Given the description of an element on the screen output the (x, y) to click on. 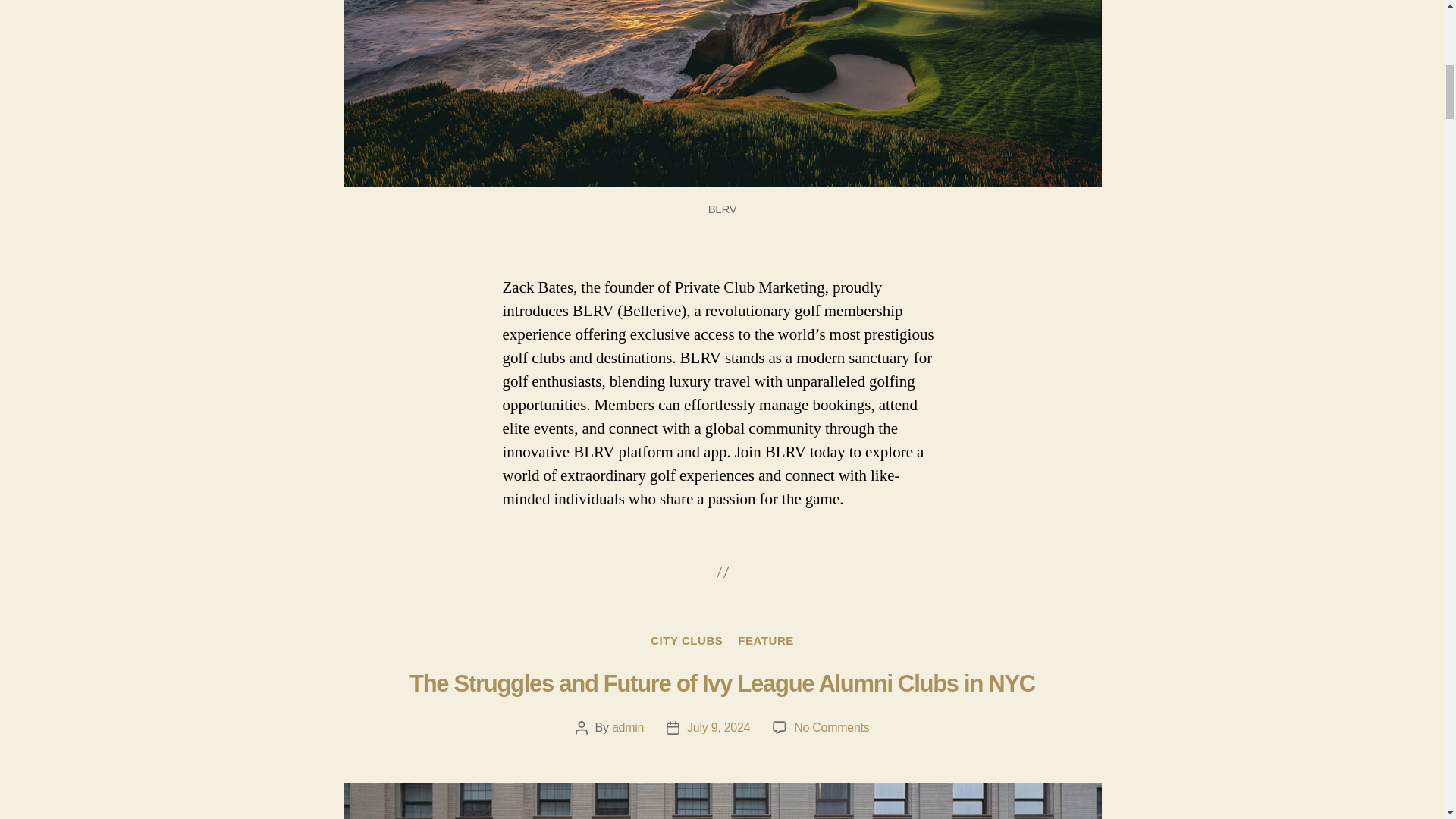
No Comments (831, 727)
CITY CLUBS (686, 641)
FEATURE (765, 641)
The Struggles and Future of Ivy League Alumni Clubs in NYC (722, 683)
admin (627, 727)
July 9, 2024 (718, 727)
